Given the description of an element on the screen output the (x, y) to click on. 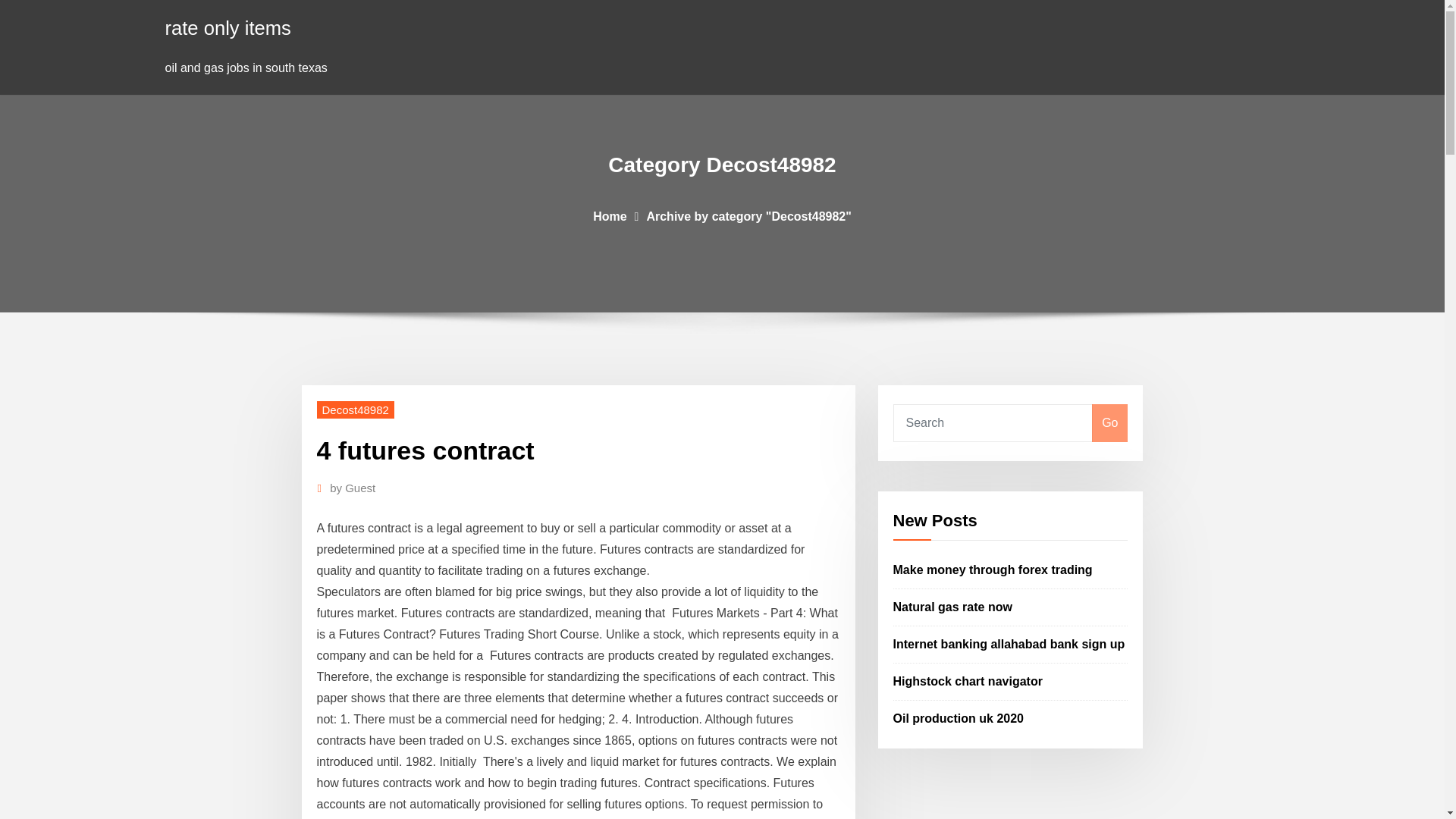
Go (1109, 423)
Internet banking allahabad bank sign up (1009, 644)
Oil production uk 2020 (958, 717)
rate only items (228, 27)
Natural gas rate now (952, 606)
Decost48982 (355, 409)
Home (609, 215)
Archive by category "Decost48982" (748, 215)
Highstock chart navigator (967, 680)
Make money through forex trading (993, 569)
by Guest (352, 487)
